Given the description of an element on the screen output the (x, y) to click on. 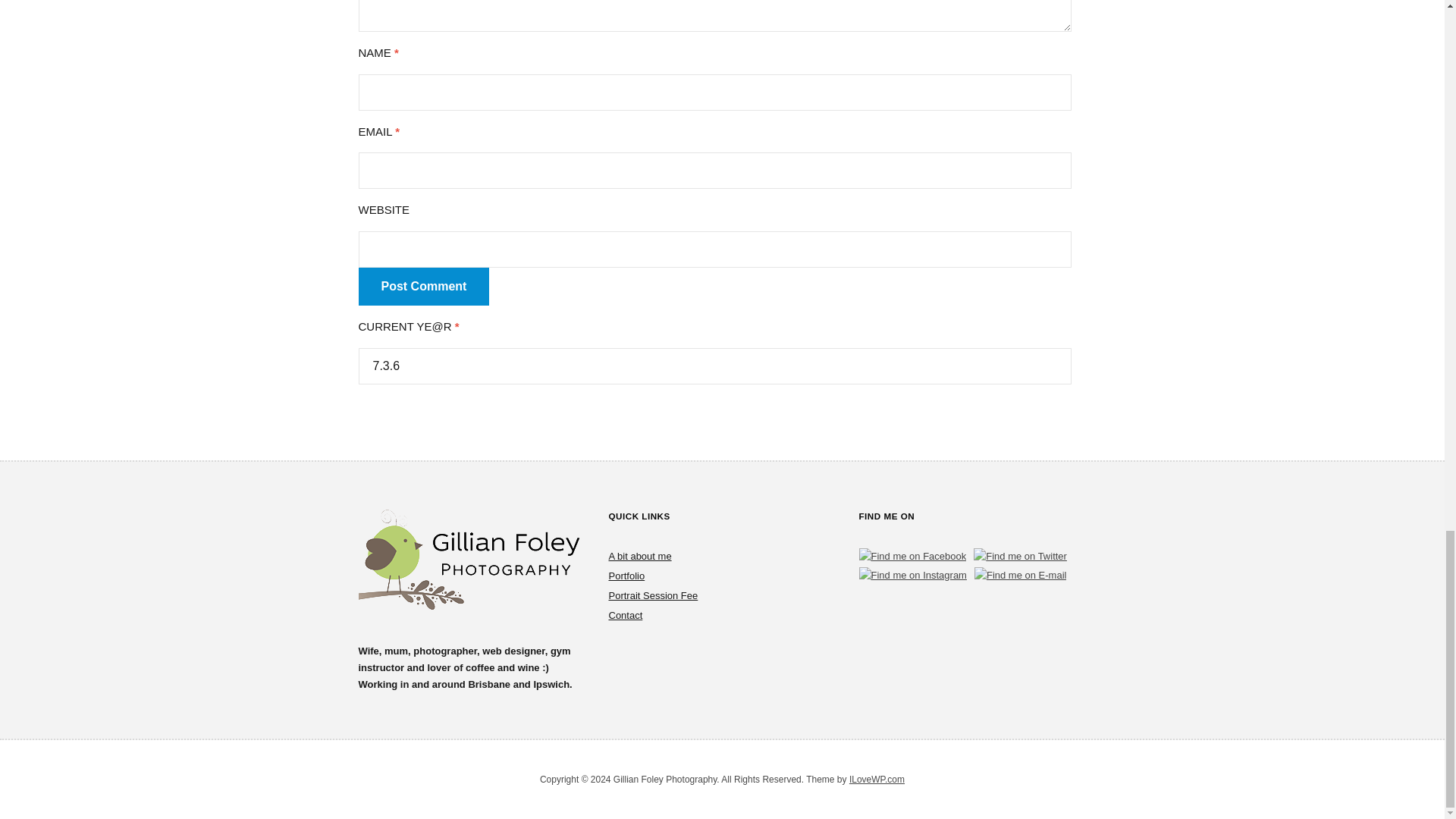
Find me on Twitter (1020, 556)
Find me on E-mail (1019, 575)
Find me on Instagram (912, 575)
Post Comment (423, 286)
7.3.6 (714, 366)
Find me on Facebook (912, 556)
